Given the description of an element on the screen output the (x, y) to click on. 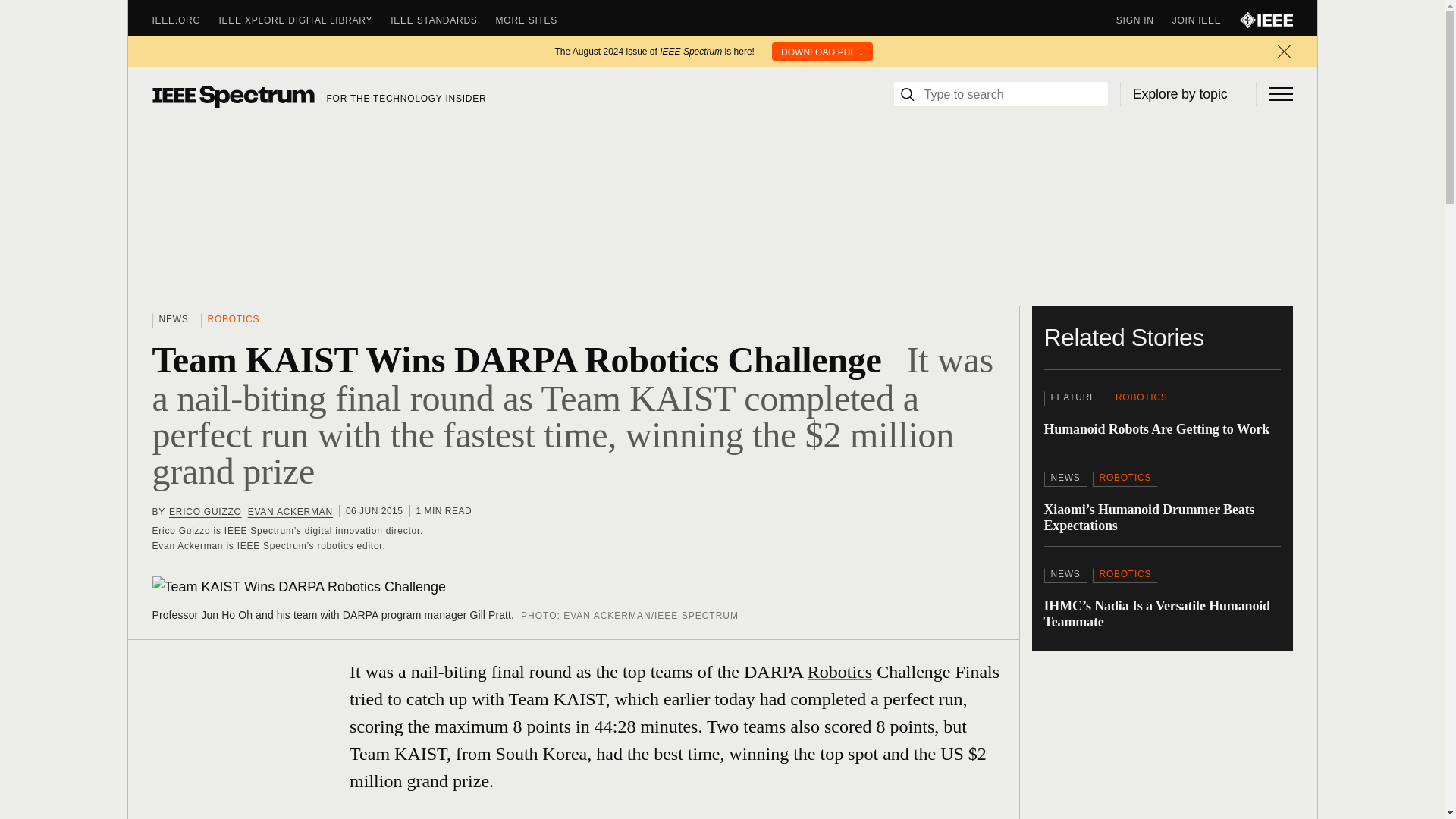
IEEE XPLORE DIGITAL LIBRARY (305, 20)
Close bar (1283, 51)
IEEE.ORG (184, 20)
IEEE STANDARDS (442, 20)
MORE SITES (536, 20)
JOIN IEEE (1206, 20)
Search (907, 93)
SIGN IN (1144, 20)
Spectrum Logo (232, 95)
